Given the description of an element on the screen output the (x, y) to click on. 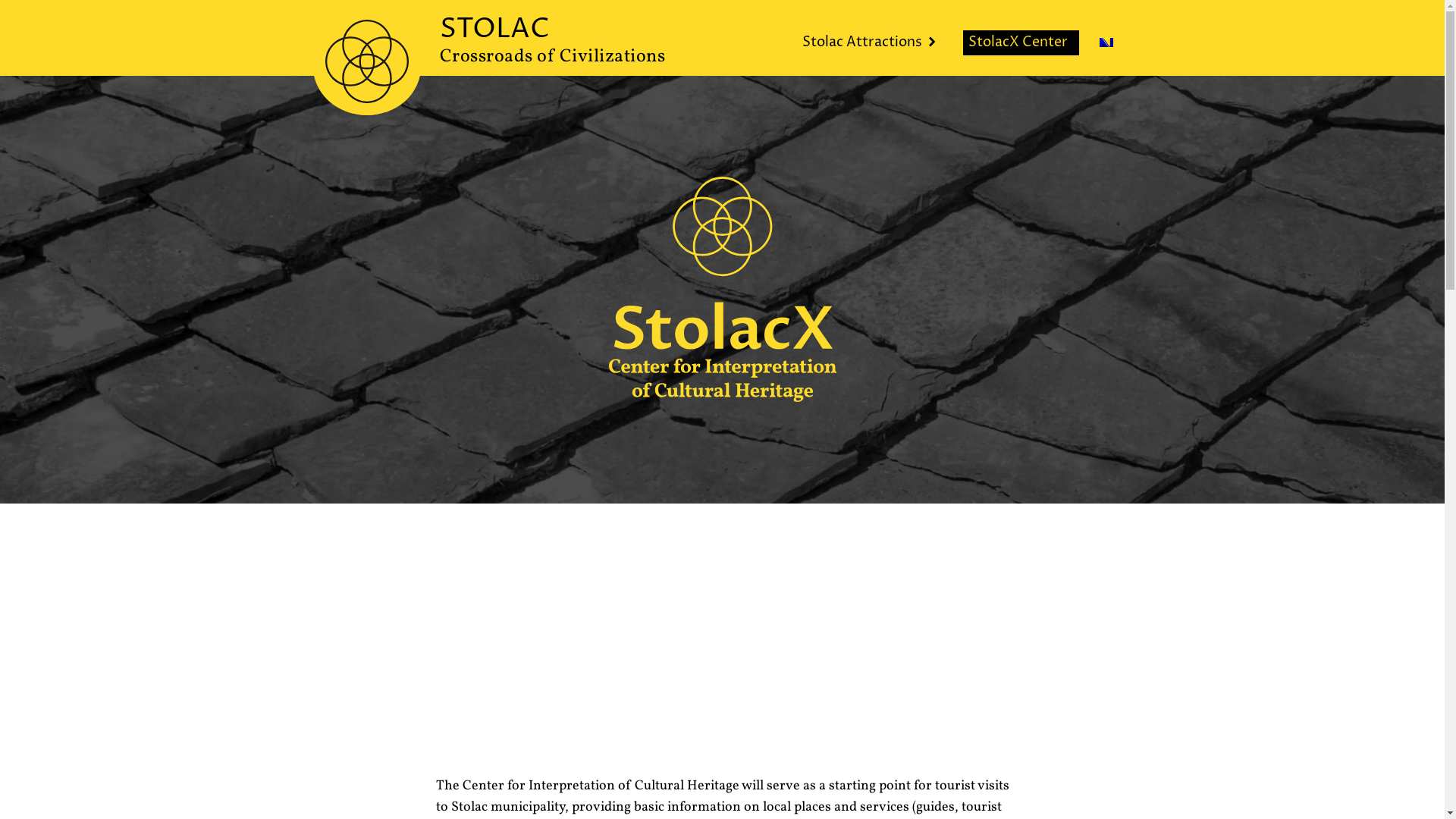
StolacX Center Element type: text (1021, 43)
STOLAC
Crossroads of Civilizations Element type: text (552, 43)
Stolac Attractions Element type: text (871, 43)
